Given the description of an element on the screen output the (x, y) to click on. 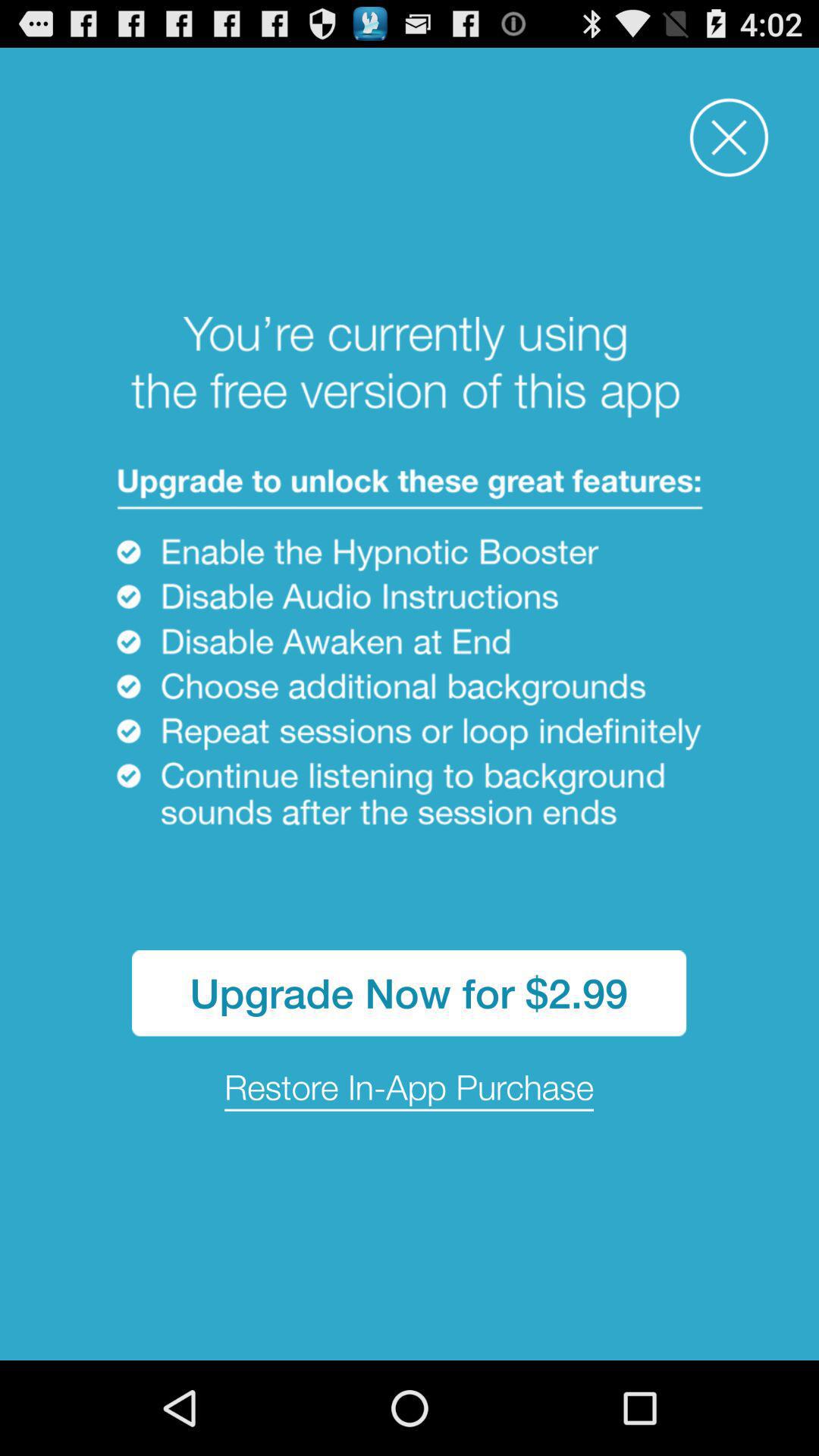
scroll until the upgrade now for button (408, 993)
